Given the description of an element on the screen output the (x, y) to click on. 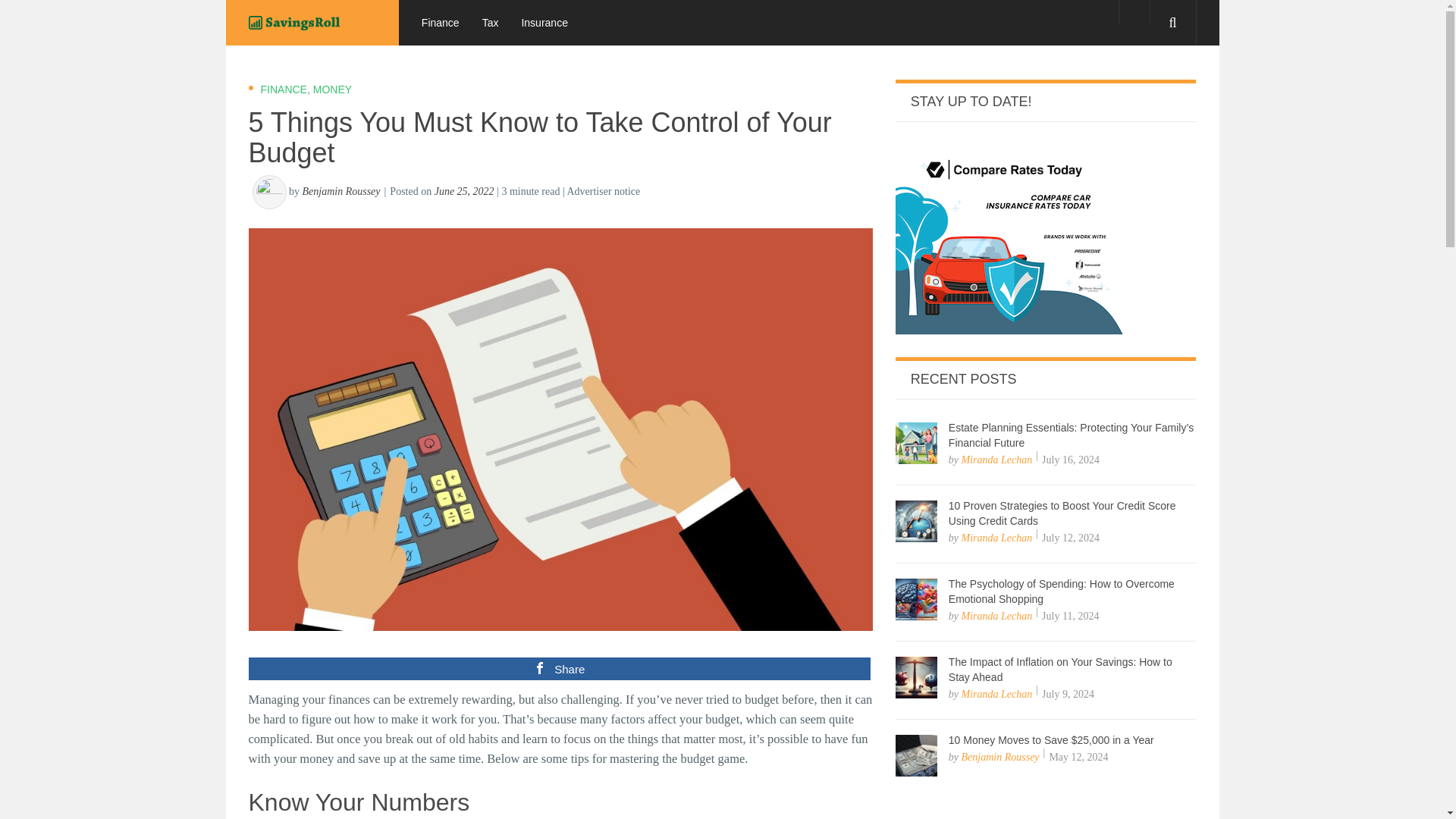
The Impact of Inflation on Your Savings: How to Stay Ahead (1060, 669)
Miranda Lechan (996, 615)
Insurance (543, 22)
June 25, 2022 (464, 191)
Benjamin Roussey (340, 191)
Miranda Lechan (996, 693)
Miranda Lechan (996, 459)
Benjamin Roussey (999, 756)
Finance (440, 22)
Tax (490, 22)
Share (559, 668)
Miranda Lechan (996, 537)
FINANCE (283, 89)
